Given the description of an element on the screen output the (x, y) to click on. 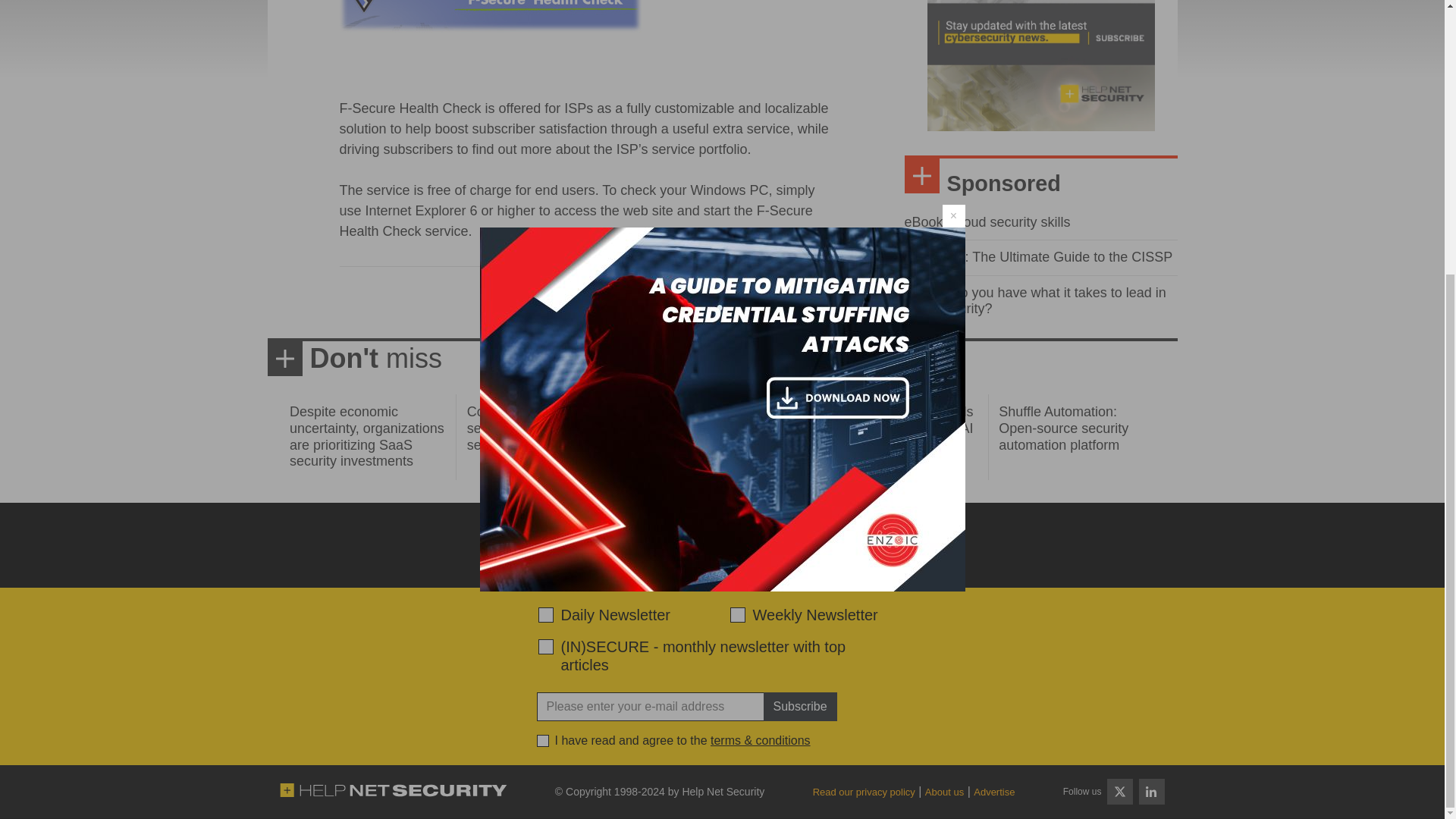
d2d471aafa (736, 614)
Subscribe (798, 706)
Shuffle Automation: Open-source security automation platform (1063, 428)
eBook: Cloud security skills (987, 222)
Download: The Ultimate Guide to the CISSP (1038, 256)
Cross-industry standards for data provenance in AI (896, 419)
eBook: Do you have what it takes to lead in cybersecurity? (1035, 300)
eBook: Cloud security skills (987, 222)
Download: The Ultimate Guide to the CISSP (1038, 256)
1 (542, 740)
520ac2f639 (545, 614)
28abe5d9ef (545, 646)
